Given the description of an element on the screen output the (x, y) to click on. 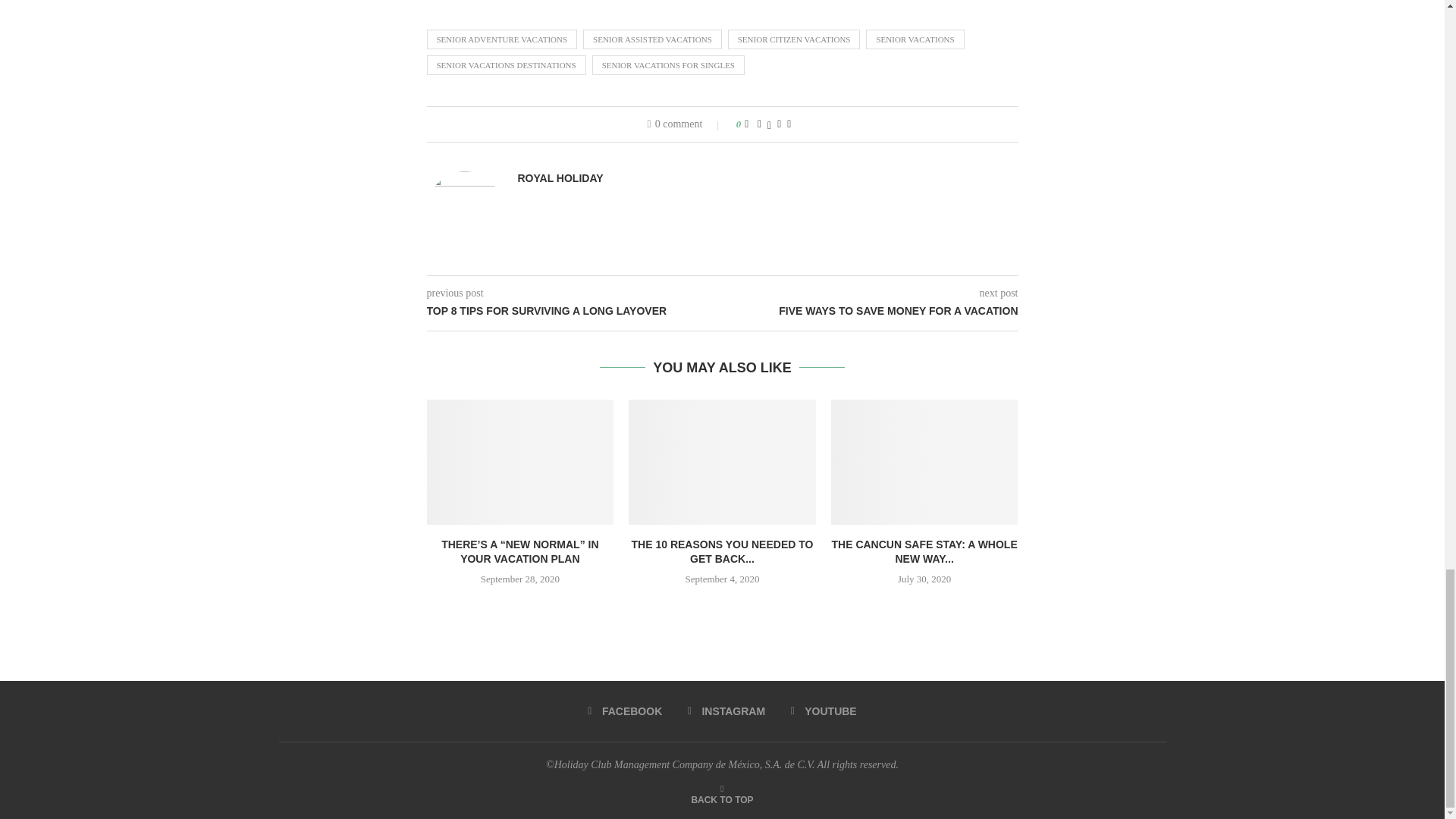
SENIOR ADVENTURE VACATIONS (501, 39)
THE 10 REASONS YOU NEEDED TO GET BACK TO THE BEACH (721, 461)
Author Royal Holiday (559, 178)
THE CANCUN SAFE STAY: A WHOLE NEW WAY TO TRAVEL (924, 461)
